Given the description of an element on the screen output the (x, y) to click on. 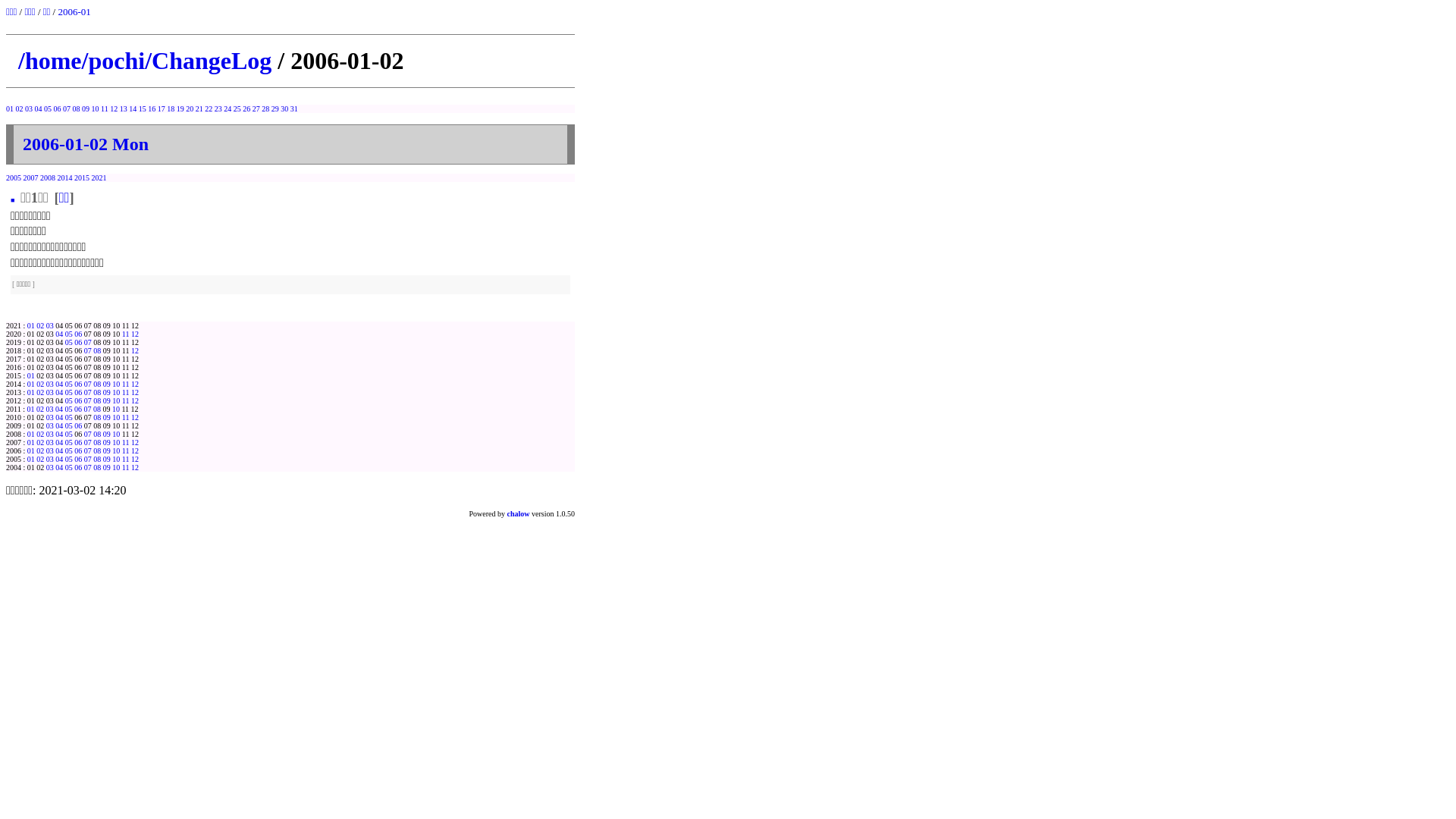
10 Element type: text (115, 467)
01 Element type: text (30, 408)
09 Element type: text (106, 392)
04 Element type: text (58, 467)
04 Element type: text (58, 408)
03 Element type: text (49, 425)
05 Element type: text (47, 108)
07 Element type: text (87, 459)
07 Element type: text (87, 433)
01 Element type: text (30, 392)
08 Element type: text (96, 442)
08 Element type: text (96, 467)
07 Element type: text (87, 392)
09 Element type: text (106, 417)
11 Element type: text (125, 333)
12 Element type: text (134, 417)
27 Element type: text (256, 108)
12 Element type: text (134, 333)
04 Element type: text (38, 108)
03 Element type: text (49, 392)
09 Element type: text (106, 467)
01 Element type: text (30, 450)
08 Element type: text (96, 417)
12 Element type: text (134, 400)
12 Element type: text (134, 383)
10 Element type: text (115, 383)
24 Element type: text (227, 108)
02 Element type: text (18, 108)
29 Element type: text (275, 108)
11 Element type: text (104, 108)
19 Element type: text (180, 108)
02 Element type: text (39, 433)
09 Element type: text (106, 442)
11 Element type: text (125, 450)
11 Element type: text (125, 383)
2006-01 Element type: text (73, 11)
09 Element type: text (106, 459)
01 Element type: text (30, 459)
02 Element type: text (39, 450)
08 Element type: text (96, 350)
06 Element type: text (77, 442)
14 Element type: text (132, 108)
01 Element type: text (30, 325)
07 Element type: text (87, 442)
10 Element type: text (94, 108)
02 Element type: text (39, 442)
02 Element type: text (39, 392)
08 Element type: text (76, 108)
11 Element type: text (125, 459)
16 Element type: text (151, 108)
04 Element type: text (58, 417)
10 Element type: text (115, 459)
04 Element type: text (58, 425)
11 Element type: text (125, 442)
06 Element type: text (77, 383)
15 Element type: text (142, 108)
09 Element type: text (106, 433)
12 Element type: text (134, 442)
2015 Element type: text (81, 177)
05 Element type: text (68, 392)
08 Element type: text (96, 450)
01 Element type: text (30, 442)
12 Element type: text (134, 459)
08 Element type: text (96, 383)
03 Element type: text (28, 108)
04 Element type: text (58, 383)
26 Element type: text (246, 108)
09 Element type: text (106, 400)
12 Element type: text (134, 392)
09 Element type: text (106, 450)
28 Element type: text (265, 108)
04 Element type: text (58, 442)
2014 Element type: text (64, 177)
06 Element type: text (77, 425)
06 Element type: text (77, 459)
04 Element type: text (58, 433)
02 Element type: text (39, 459)
21 Element type: text (199, 108)
11 Element type: text (125, 392)
12 Element type: text (134, 450)
10 Element type: text (115, 442)
10 Element type: text (115, 392)
05 Element type: text (68, 442)
07 Element type: text (87, 408)
01 Element type: text (30, 433)
07 Element type: text (87, 342)
02 Element type: text (39, 408)
25 Element type: text (237, 108)
06 Element type: text (77, 400)
12 Element type: text (134, 467)
10 Element type: text (115, 408)
01 Element type: text (30, 375)
01 Element type: text (9, 108)
04 Element type: text (58, 392)
11 Element type: text (125, 417)
04 Element type: text (58, 450)
05 Element type: text (68, 408)
03 Element type: text (49, 442)
06 Element type: text (77, 342)
08 Element type: text (96, 392)
30 Element type: text (284, 108)
chalow Element type: text (518, 513)
12 Element type: text (134, 350)
02 Element type: text (39, 383)
04 Element type: text (58, 333)
11 Element type: text (125, 467)
2006-01-02 Mon Element type: text (85, 143)
11 Element type: text (125, 400)
07 Element type: text (87, 383)
05 Element type: text (68, 417)
06 Element type: text (77, 333)
23 Element type: text (218, 108)
07 Element type: text (66, 108)
03 Element type: text (49, 325)
05 Element type: text (68, 433)
13 Element type: text (123, 108)
22 Element type: text (208, 108)
06 Element type: text (77, 450)
08 Element type: text (96, 400)
31 Element type: text (294, 108)
08 Element type: text (96, 408)
06 Element type: text (77, 467)
09 Element type: text (106, 383)
17 Element type: text (161, 108)
10 Element type: text (115, 417)
2021 Element type: text (98, 177)
10 Element type: text (115, 450)
05 Element type: text (68, 425)
02 Element type: text (39, 325)
03 Element type: text (49, 417)
07 Element type: text (87, 350)
05 Element type: text (68, 342)
03 Element type: text (49, 433)
06 Element type: text (77, 392)
20 Element type: text (189, 108)
/home/pochi/ChangeLog Element type: text (144, 60)
05 Element type: text (68, 383)
05 Element type: text (68, 467)
08 Element type: text (96, 433)
09 Element type: text (85, 108)
07 Element type: text (87, 467)
08 Element type: text (96, 459)
03 Element type: text (49, 459)
18 Element type: text (170, 108)
05 Element type: text (68, 333)
10 Element type: text (115, 400)
04 Element type: text (58, 459)
2008 Element type: text (47, 177)
03 Element type: text (49, 408)
06 Element type: text (77, 408)
03 Element type: text (49, 383)
03 Element type: text (49, 450)
01 Element type: text (30, 383)
07 Element type: text (87, 400)
03 Element type: text (49, 467)
12 Element type: text (113, 108)
05 Element type: text (68, 400)
05 Element type: text (68, 450)
07 Element type: text (87, 450)
2005 Element type: text (13, 177)
10 Element type: text (115, 433)
05 Element type: text (68, 459)
2007 Element type: text (29, 177)
06 Element type: text (56, 108)
